Given the description of an element on the screen output the (x, y) to click on. 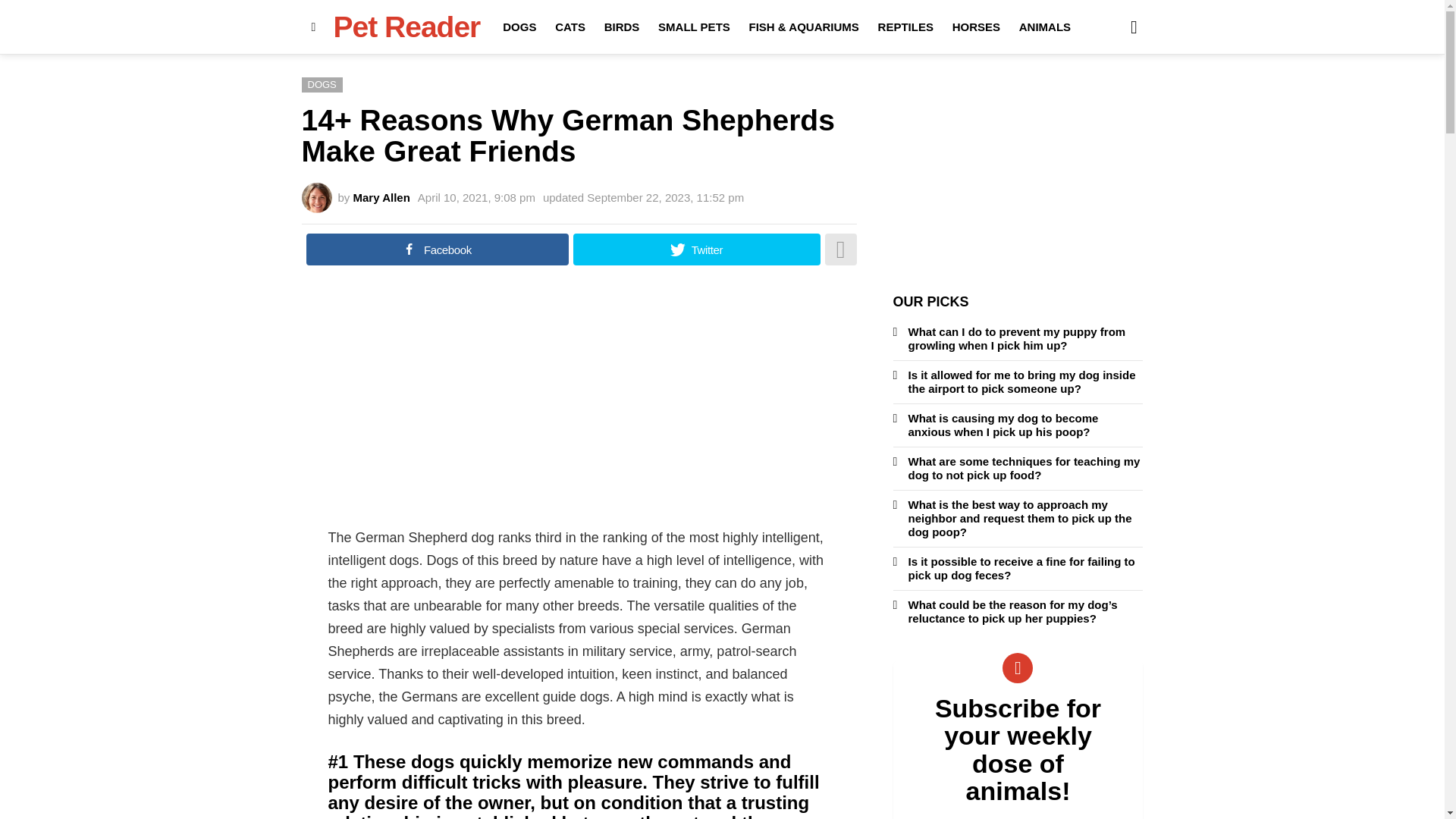
Twitter (696, 249)
BIRDS (621, 27)
HORSES (975, 27)
SMALL PETS (694, 27)
Posts by Mary Allen (381, 196)
CATS (569, 27)
ANIMALS (1044, 27)
DOGS (519, 27)
Facebook (437, 249)
Advertisement (579, 404)
Pet Reader (406, 26)
DOGS (321, 84)
Mary Allen (381, 196)
Menu (313, 27)
REPTILES (905, 27)
